Given the description of an element on the screen output the (x, y) to click on. 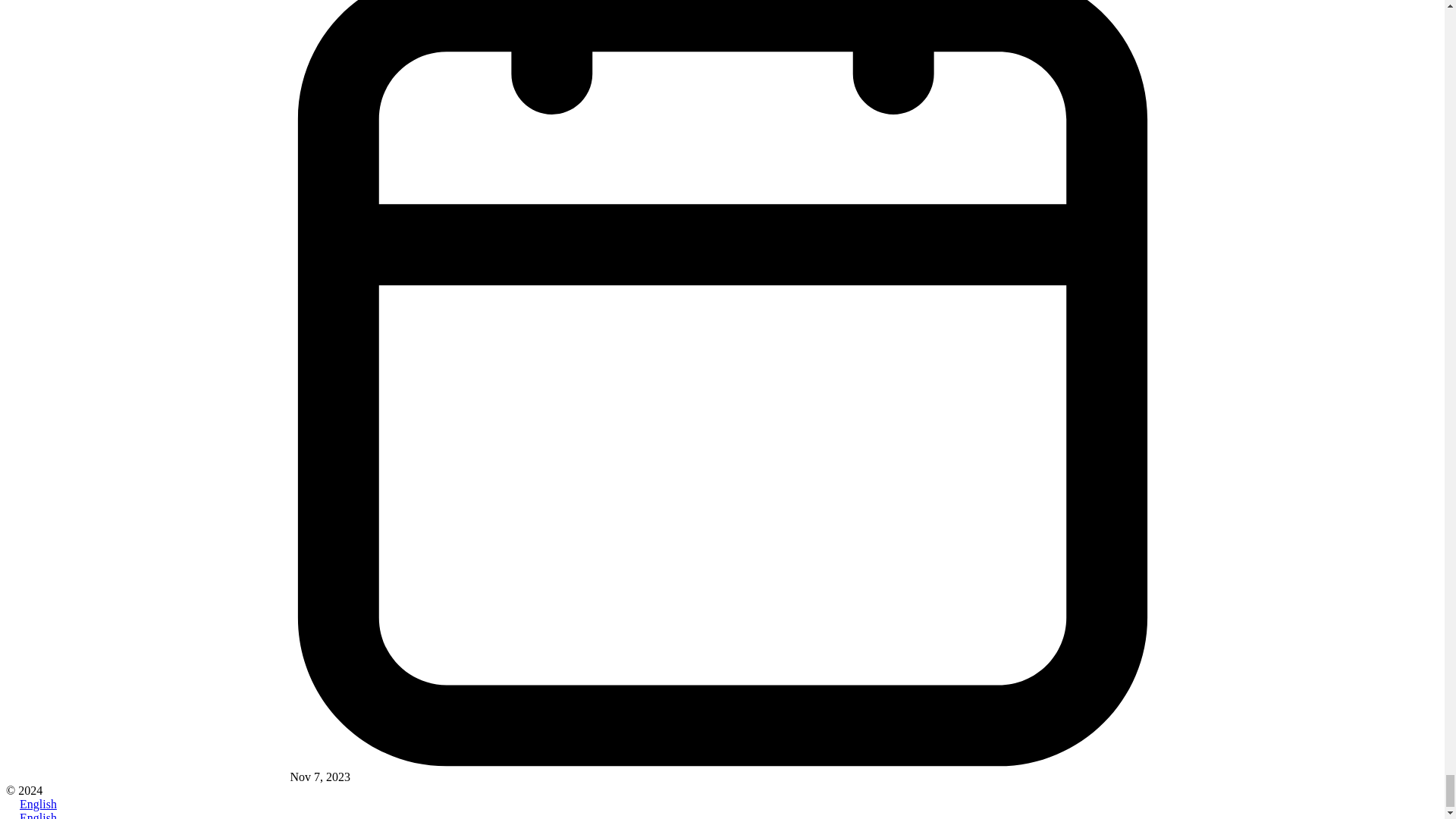
English (12, 803)
